Given the description of an element on the screen output the (x, y) to click on. 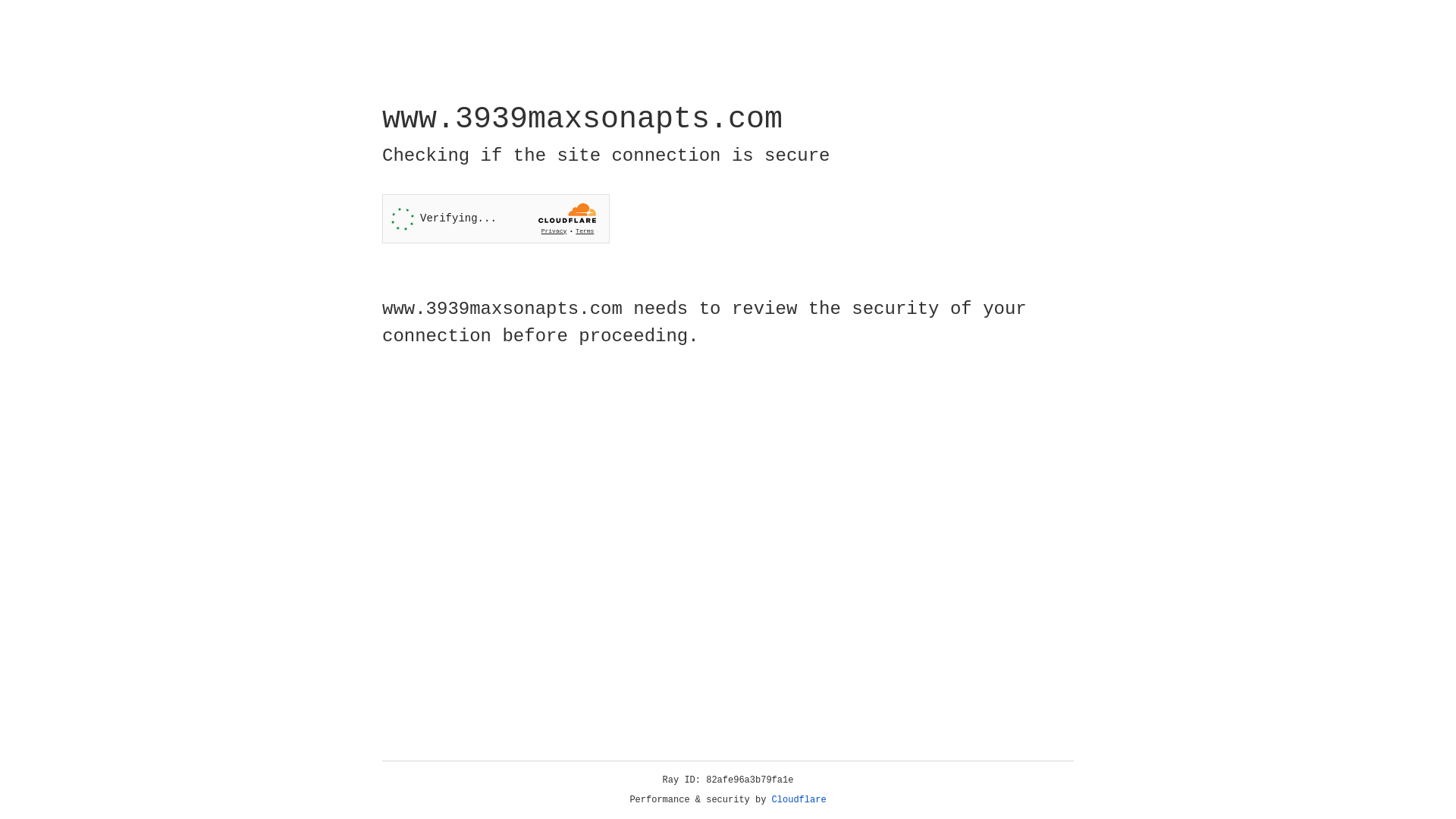
Widget containing a Cloudflare security challenge Element type: hover (495, 218)
Cloudflare Element type: text (798, 799)
